Given the description of an element on the screen output the (x, y) to click on. 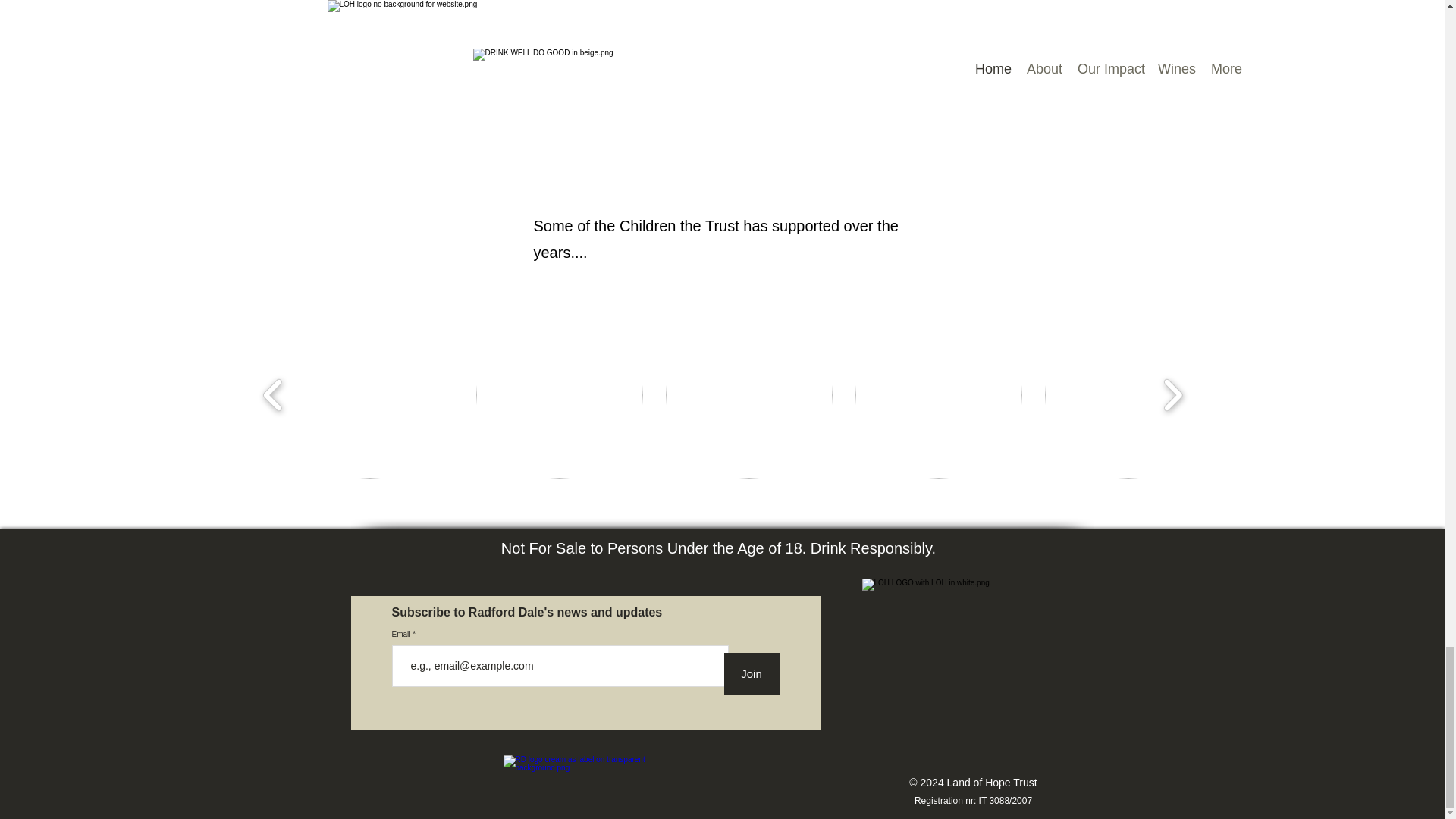
Join (750, 673)
